Given the description of an element on the screen output the (x, y) to click on. 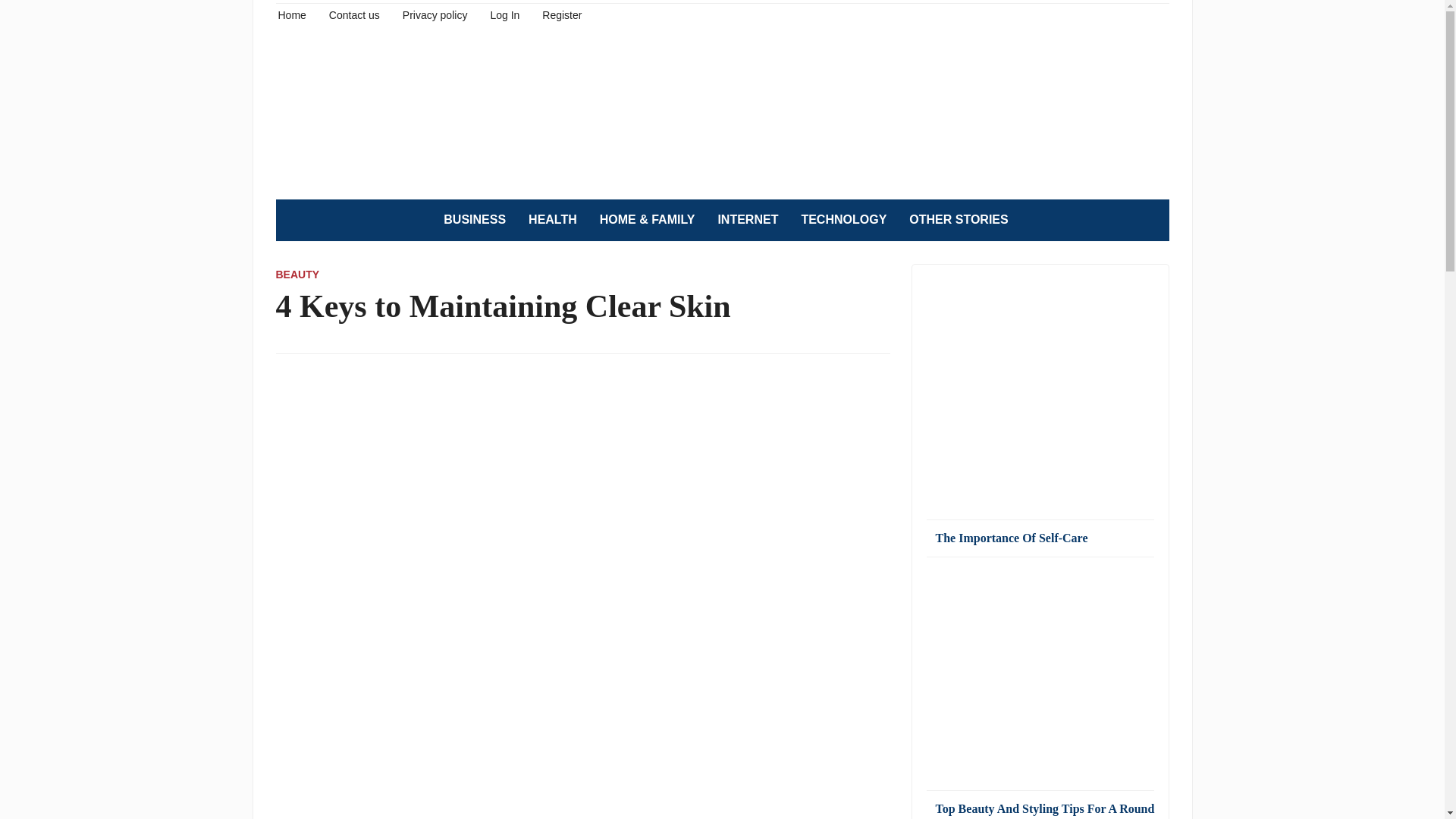
Home (291, 14)
Privacy policy (435, 14)
Contact us (354, 14)
Log In (504, 14)
Search (1149, 219)
Register (560, 14)
